Given the description of an element on the screen output the (x, y) to click on. 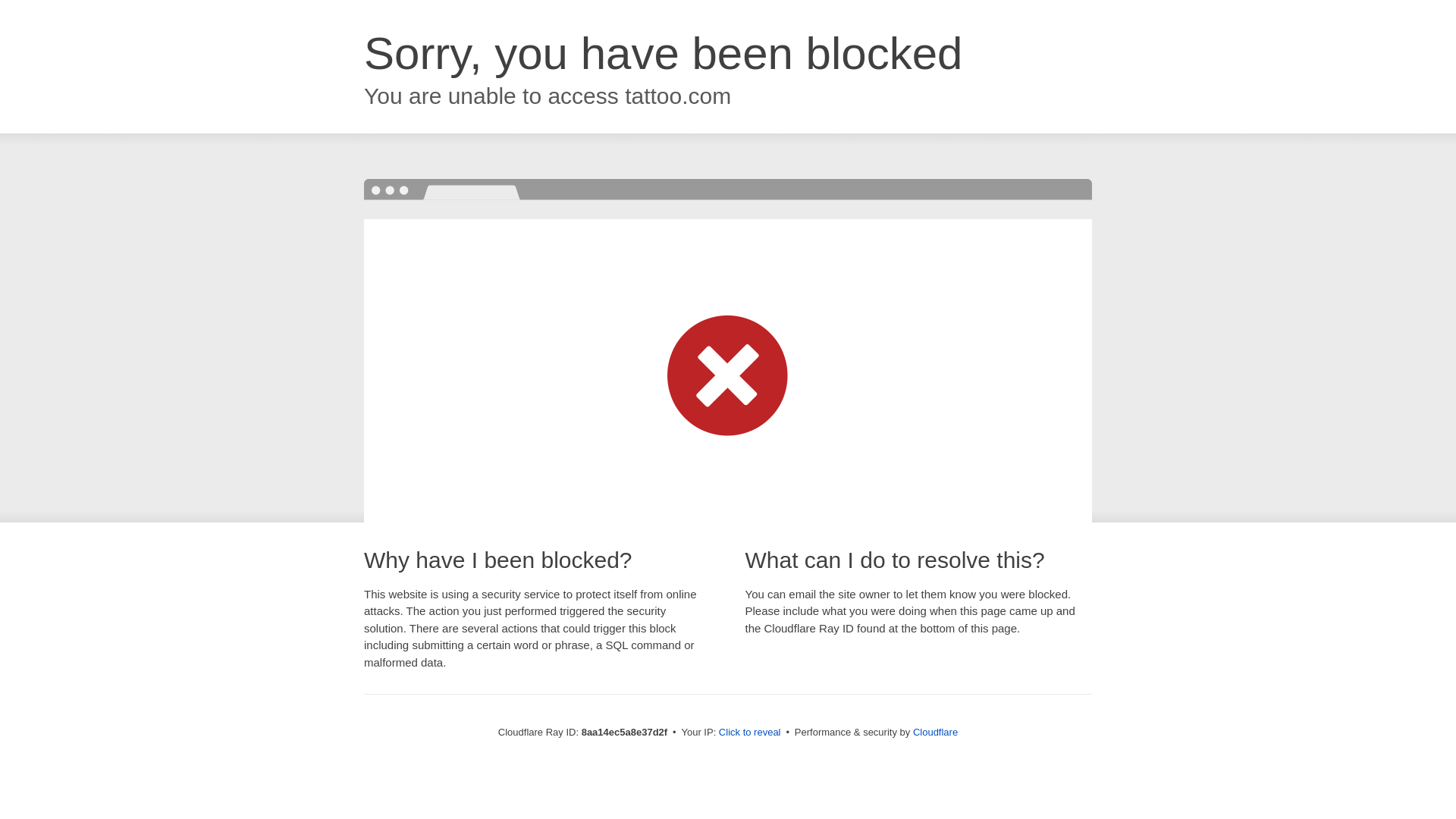
Cloudflare (935, 731)
Click to reveal (749, 732)
